Given the description of an element on the screen output the (x, y) to click on. 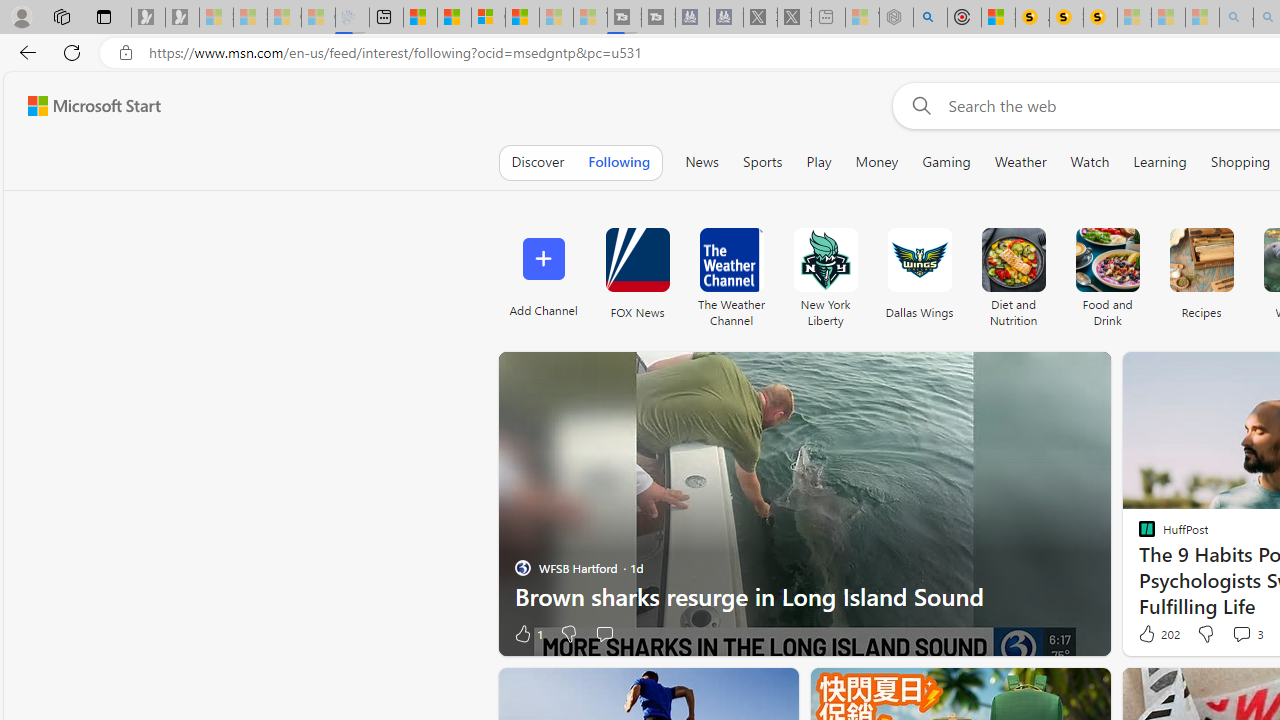
FOX News (637, 272)
Food and Drink (1107, 260)
Skip to content (86, 105)
amazon - Search - Sleeping (1236, 17)
